Given the description of an element on the screen output the (x, y) to click on. 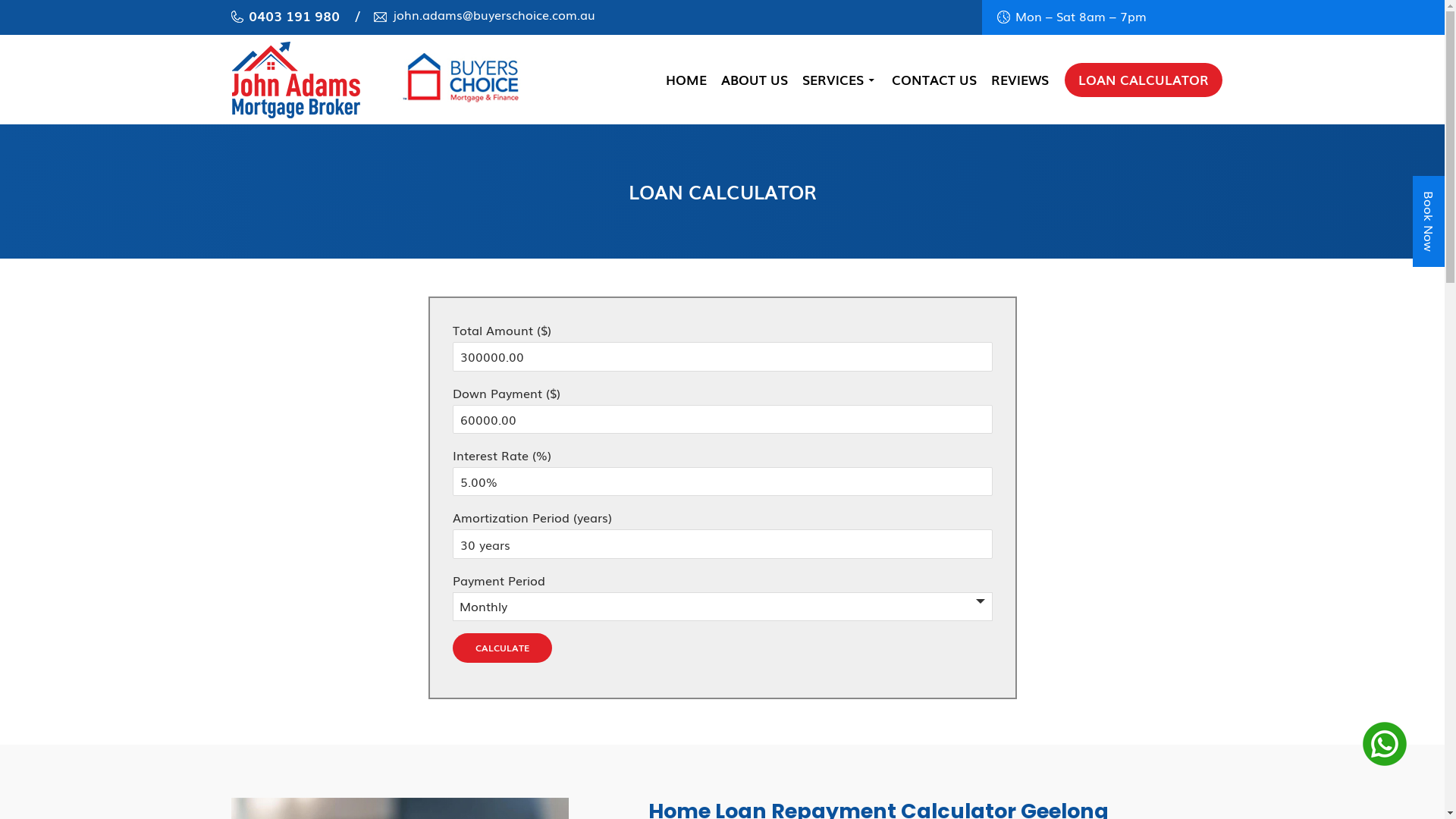
SERVICES Element type: text (839, 79)
REVIEWS Element type: text (1019, 79)
CONTACT US Element type: text (933, 79)
ABOUT US Element type: text (753, 79)
LOAN CALCULATOR Element type: text (1143, 79)
HOME Element type: text (685, 79)
0403 191 980 Element type: text (284, 15)
SKIP TO CONTENT Element type: text (664, 34)
john.adams@buyerschoice.com.au Element type: text (483, 14)
Calculate Element type: text (501, 647)
